Given the description of an element on the screen output the (x, y) to click on. 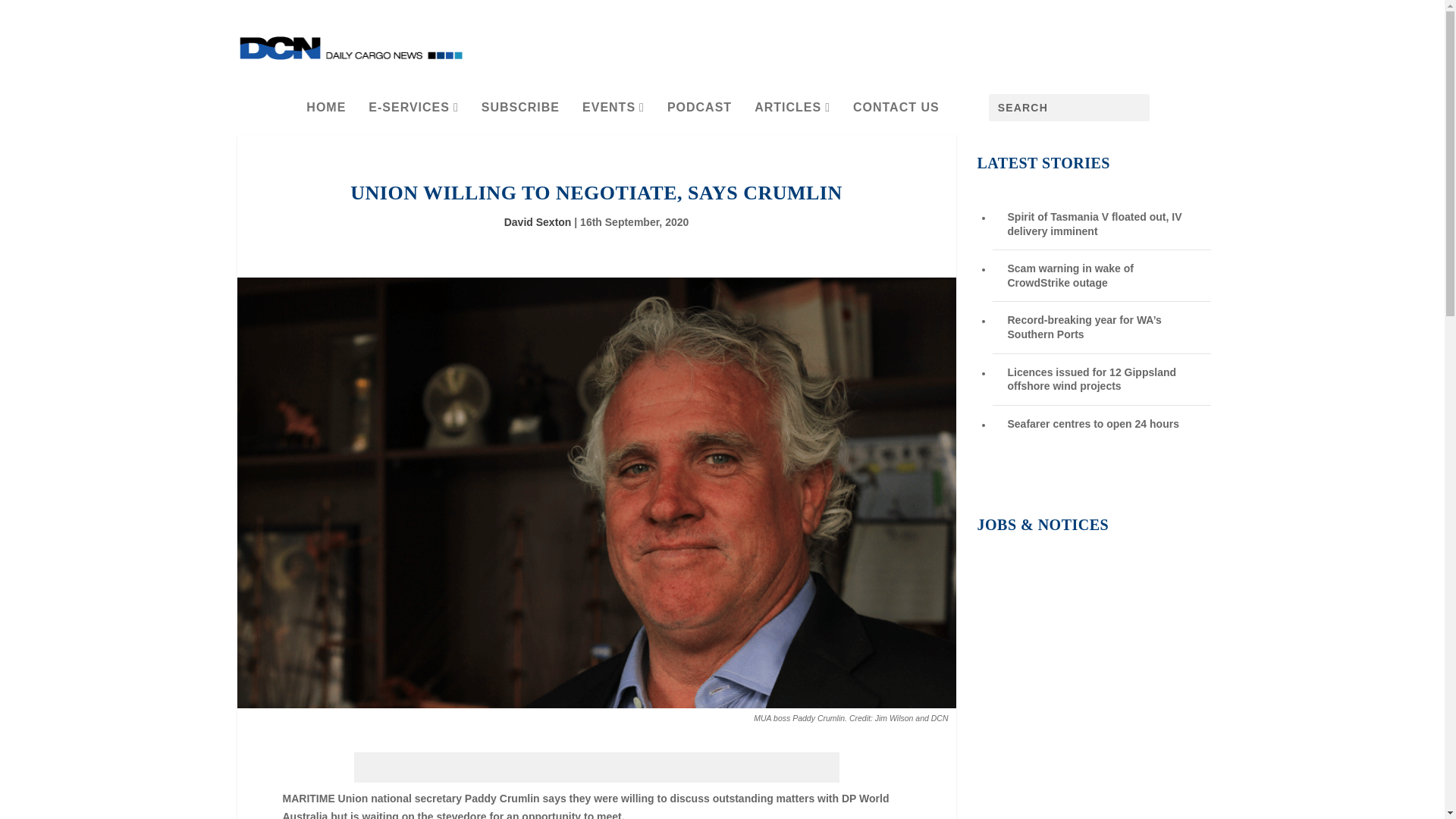
PODCAST (699, 114)
Search for: (1069, 107)
Posts by David Sexton (537, 222)
SUBSCRIBE (520, 114)
CONTACT US (896, 114)
ARTICLES (791, 114)
EVENTS (613, 114)
HOME (325, 114)
David Sexton (537, 222)
E-SERVICES (413, 114)
